Given the description of an element on the screen output the (x, y) to click on. 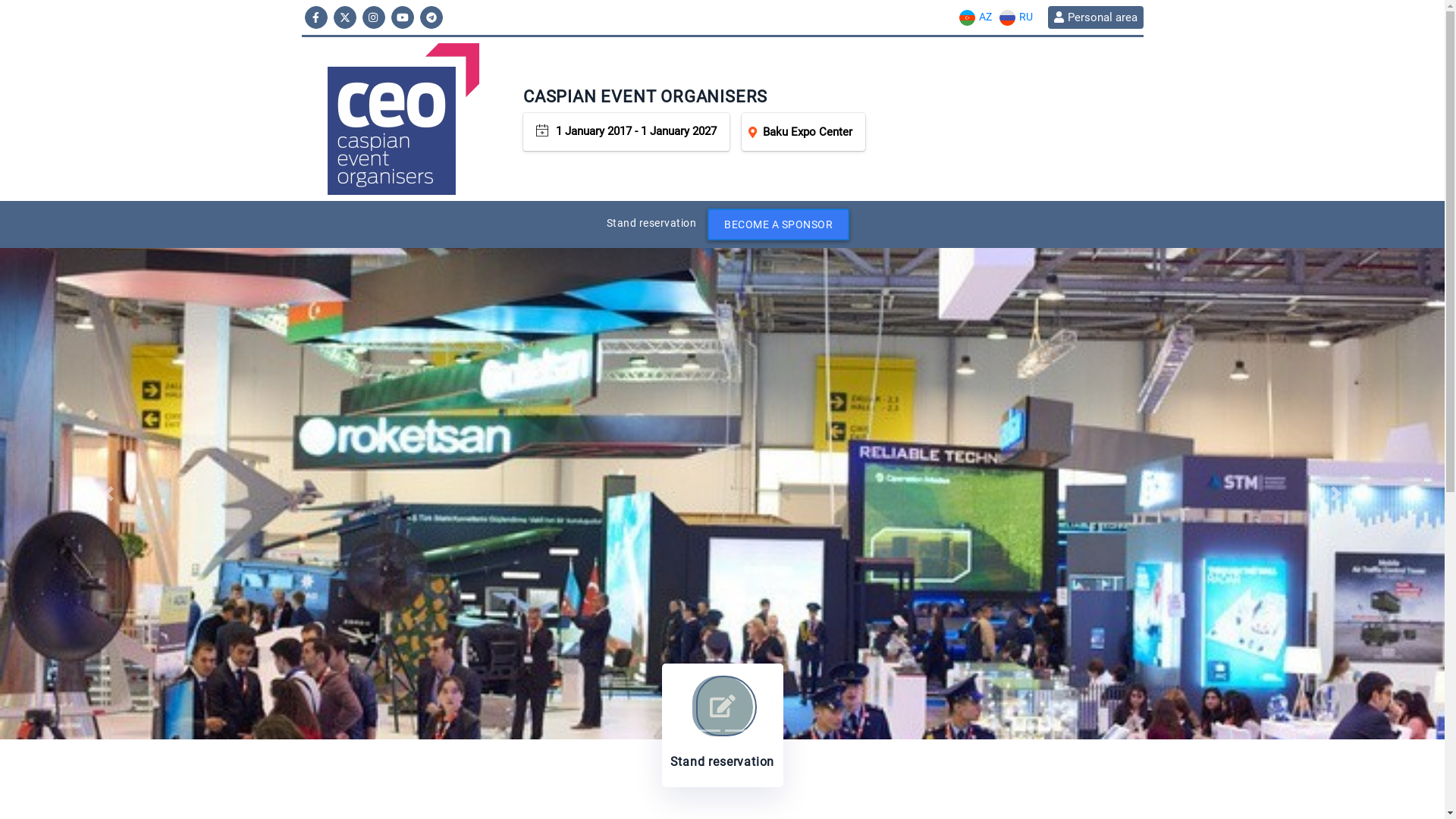
Stand reservation Element type: text (721, 725)
Baku Expo Center Element type: text (803, 131)
Personal area Element type: text (1095, 17)
AZ Element type: text (974, 16)
RU Element type: text (1014, 16)
Stand reservation Element type: text (651, 222)
BECOME A SPONSOR Element type: text (778, 224)
